Given the description of an element on the screen output the (x, y) to click on. 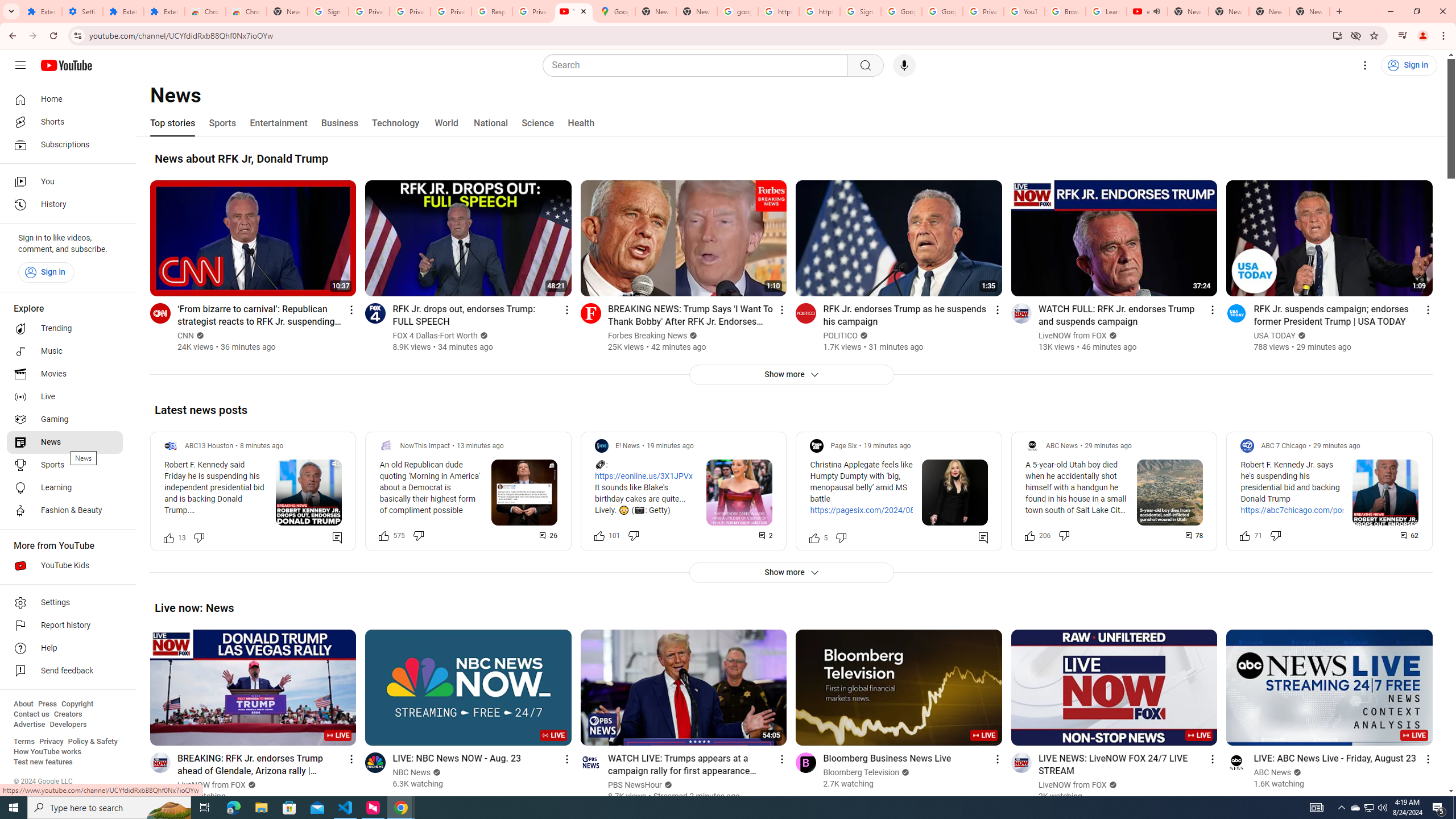
ABC 7 Chicago (1283, 445)
LiveNOW from FOX (1073, 784)
8 minutes ago (261, 445)
Fashion & Beauty (64, 510)
Comment (1409, 534)
Action menu (1427, 758)
ABC News (1272, 772)
YouTube (573, 11)
